Given the description of an element on the screen output the (x, y) to click on. 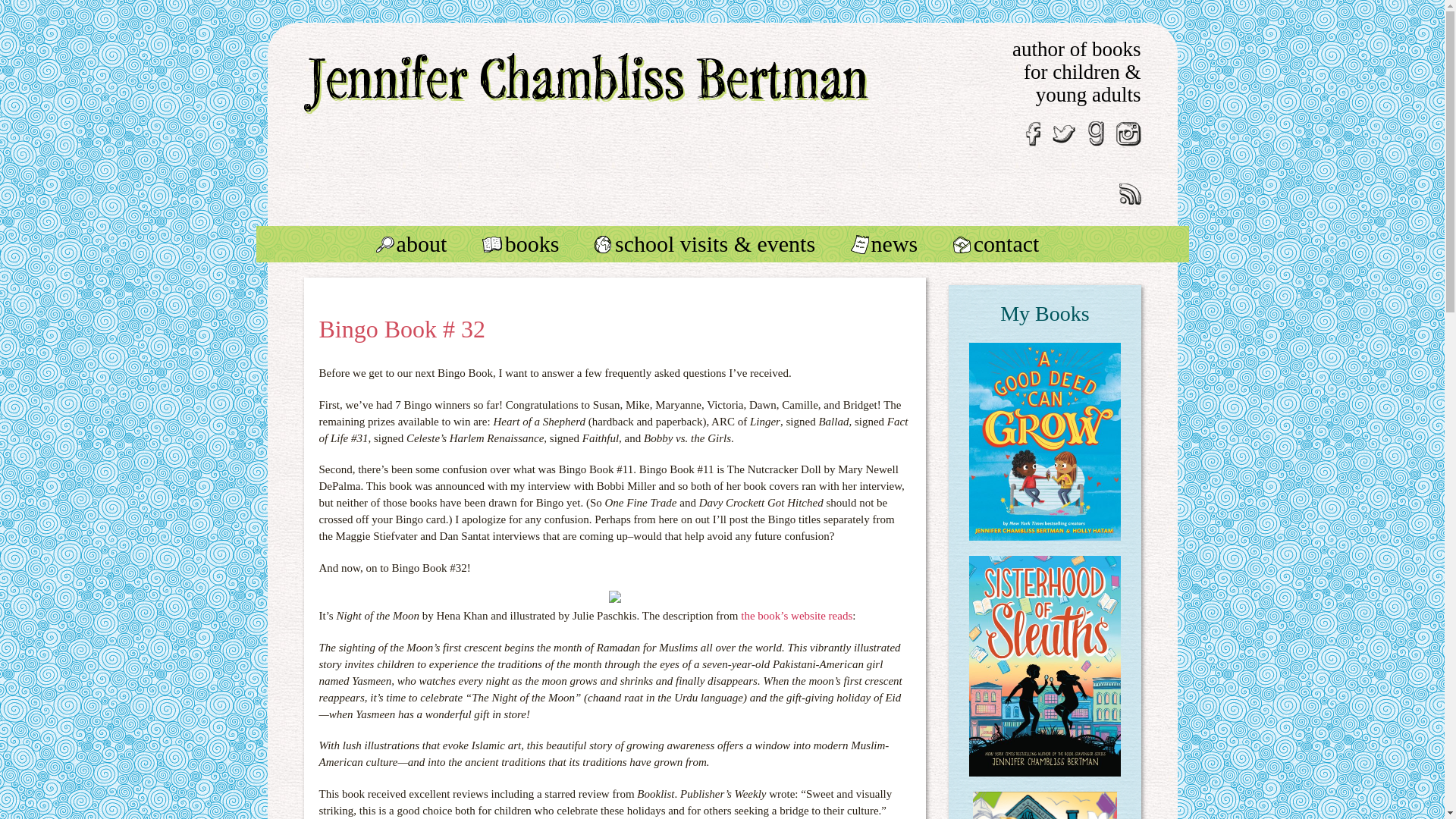
contact (1010, 244)
news (898, 244)
books (535, 244)
about (426, 244)
